Given the description of an element on the screen output the (x, y) to click on. 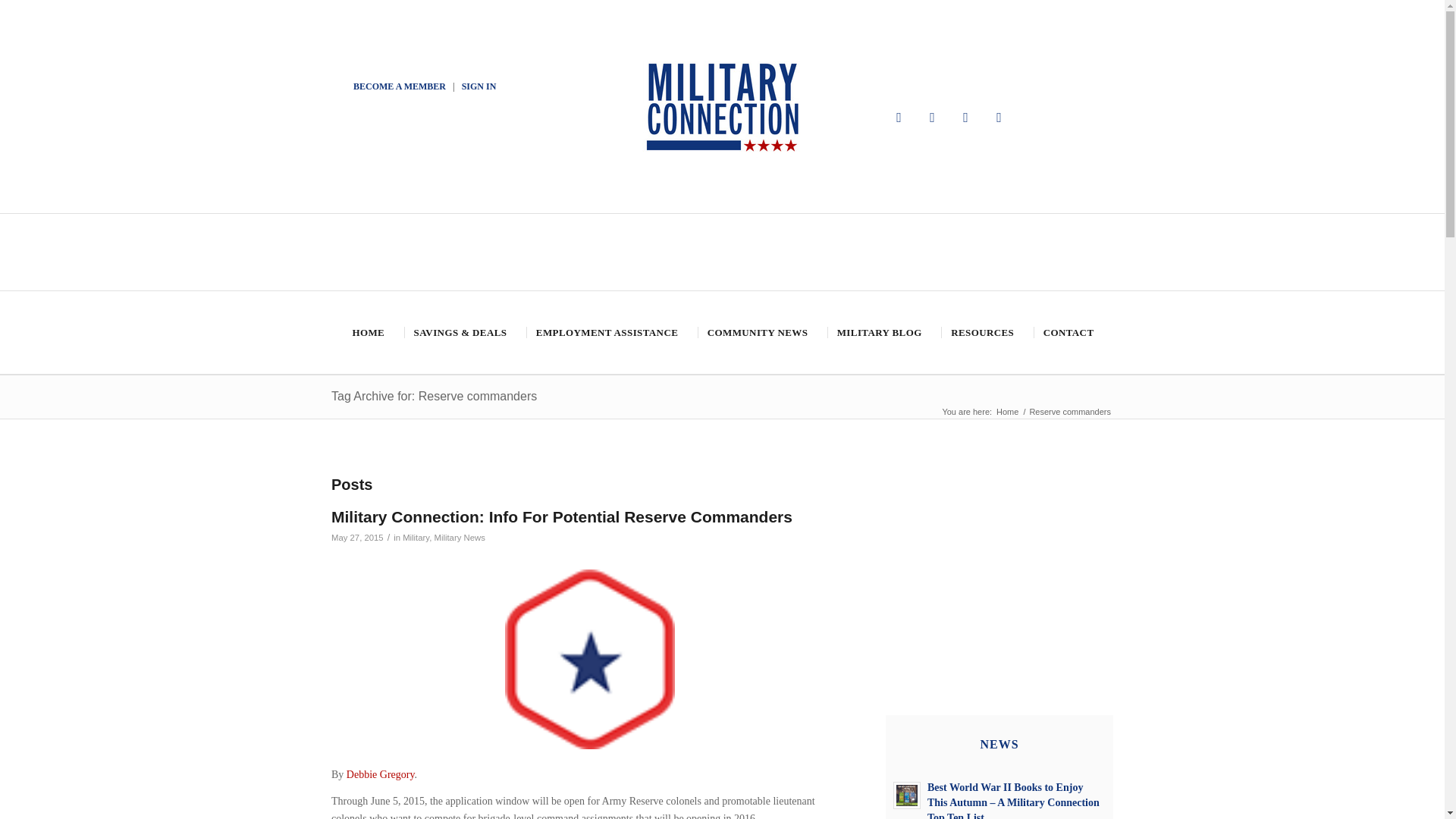
BECOME A MEMBER (399, 86)
SIGN IN (478, 86)
Military (416, 537)
Pinterest (965, 117)
CONTACT (1067, 332)
3rd party ad content (999, 552)
Military Connection: Info For Potential Reserve Commanders (561, 516)
COMMUNITY NEWS (756, 332)
Tag Archive for: Reserve commanders (434, 395)
Twitter (932, 117)
Home (1007, 411)
Permanent Link: Tag Archive for: Reserve commanders (434, 395)
MILITARY BLOG (878, 332)
LinkedIn (999, 117)
